Given the description of an element on the screen output the (x, y) to click on. 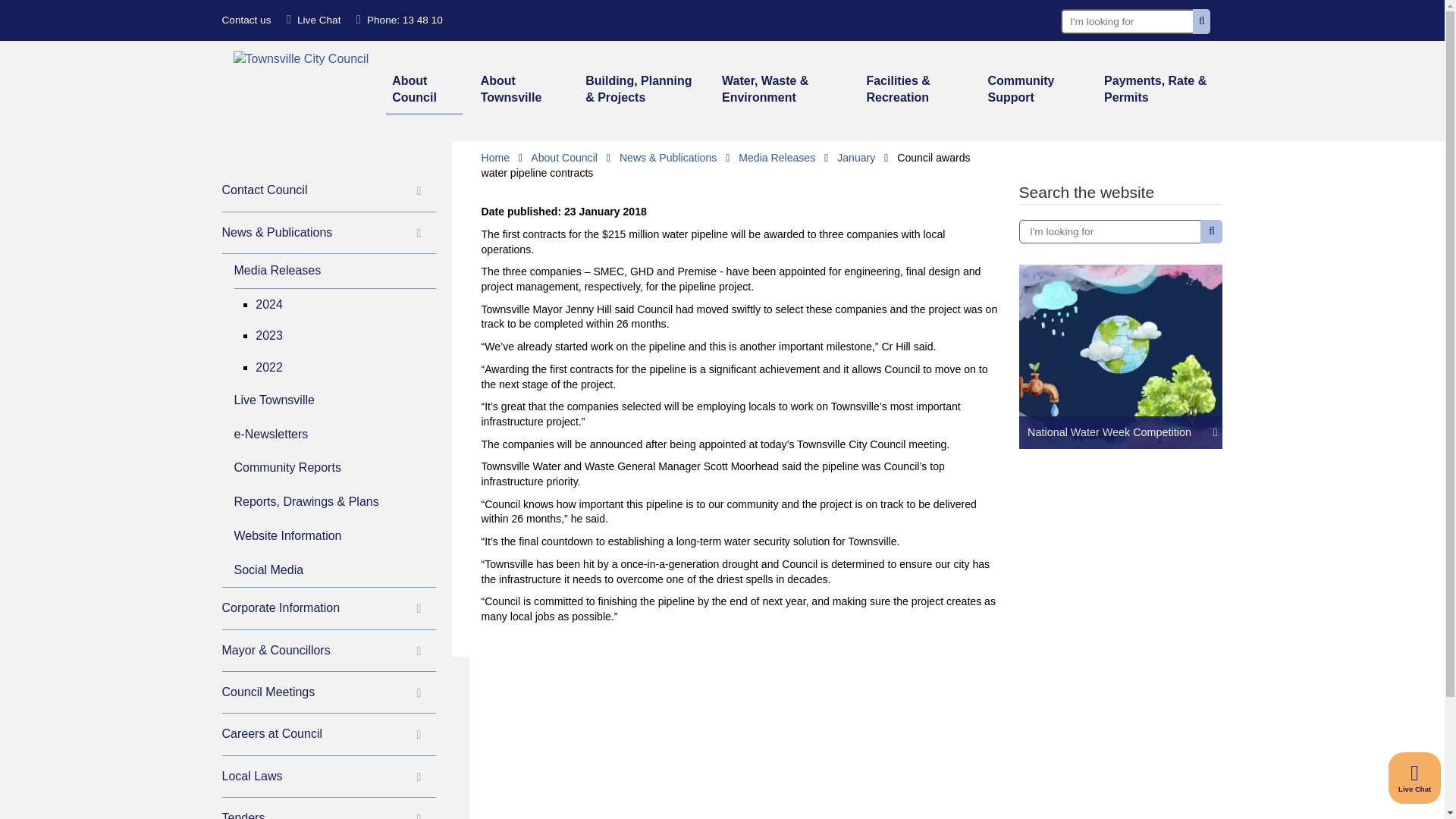
Chat with a Townsville City Council representative. (1415, 777)
Contact us (245, 20)
Phone: 13 48 10 (399, 20)
About Council (424, 90)
Live Chat (1415, 777)
Live Chat (313, 20)
Chat with a Townsville City Council representative. (313, 20)
